Given the description of an element on the screen output the (x, y) to click on. 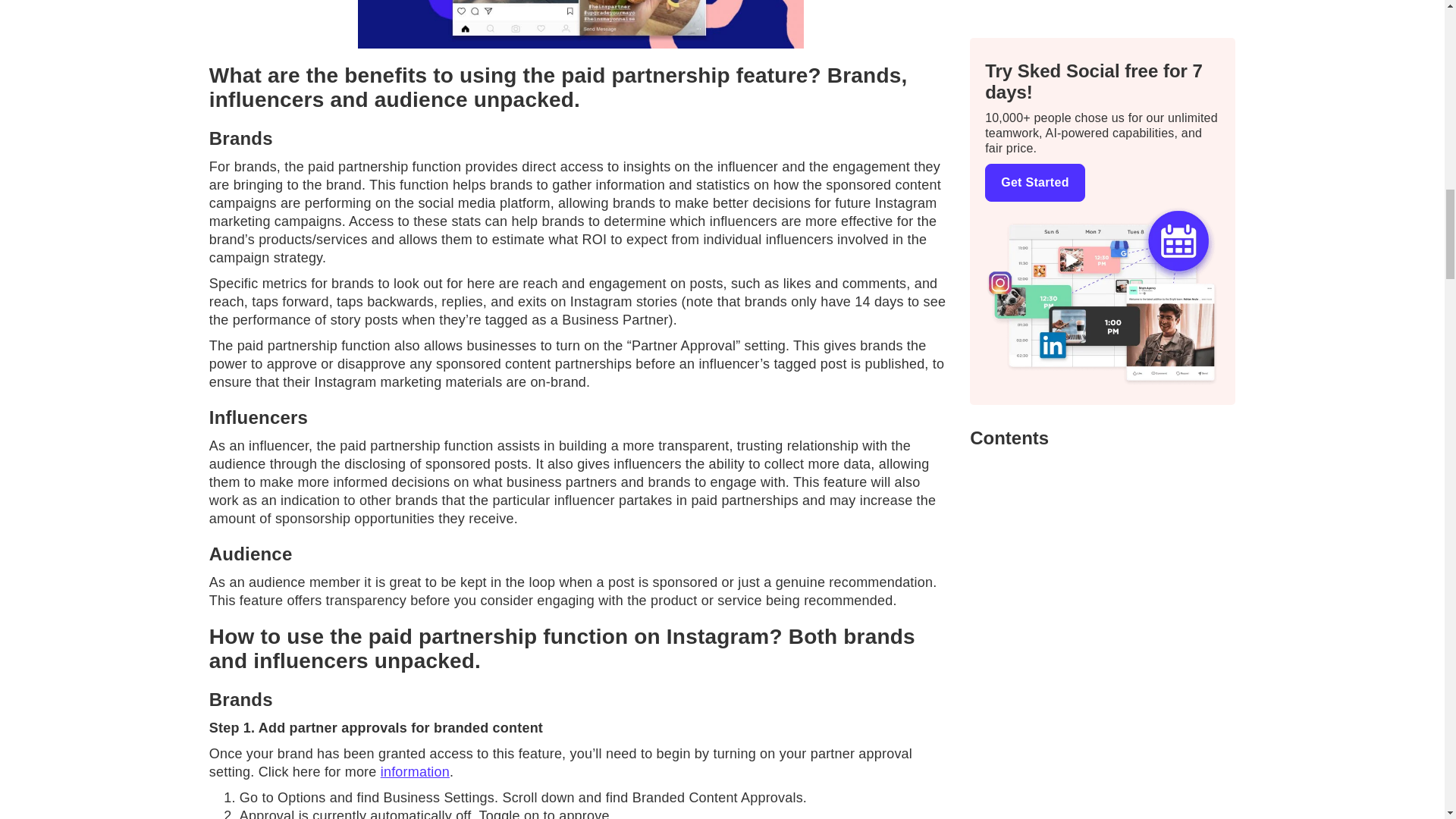
information (414, 771)
